Given the description of an element on the screen output the (x, y) to click on. 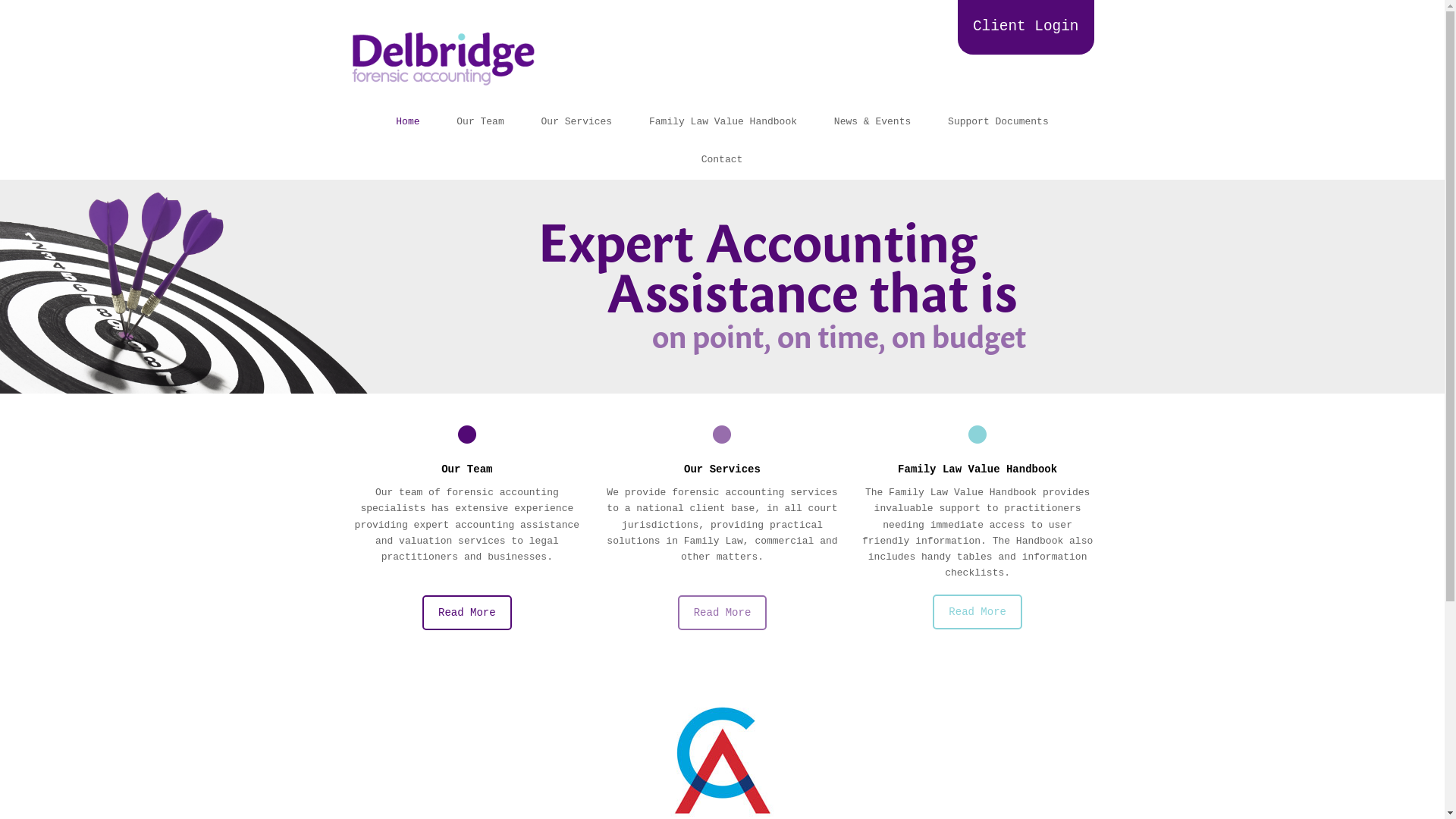
News & Events Element type: text (872, 122)
Our Team Element type: text (479, 122)
Our Services Element type: text (576, 122)
Home Element type: text (407, 122)
Family Law Value Handbook Element type: text (722, 122)
Read More Element type: text (977, 611)
Support Documents Element type: text (997, 122)
Read More Element type: text (466, 612)
Family Law Value Handbook Element type: text (977, 469)
Read More Element type: text (722, 612)
Our Services Element type: text (721, 469)
Our Team Element type: text (466, 469)
Contact Element type: text (722, 159)
